Given the description of an element on the screen output the (x, y) to click on. 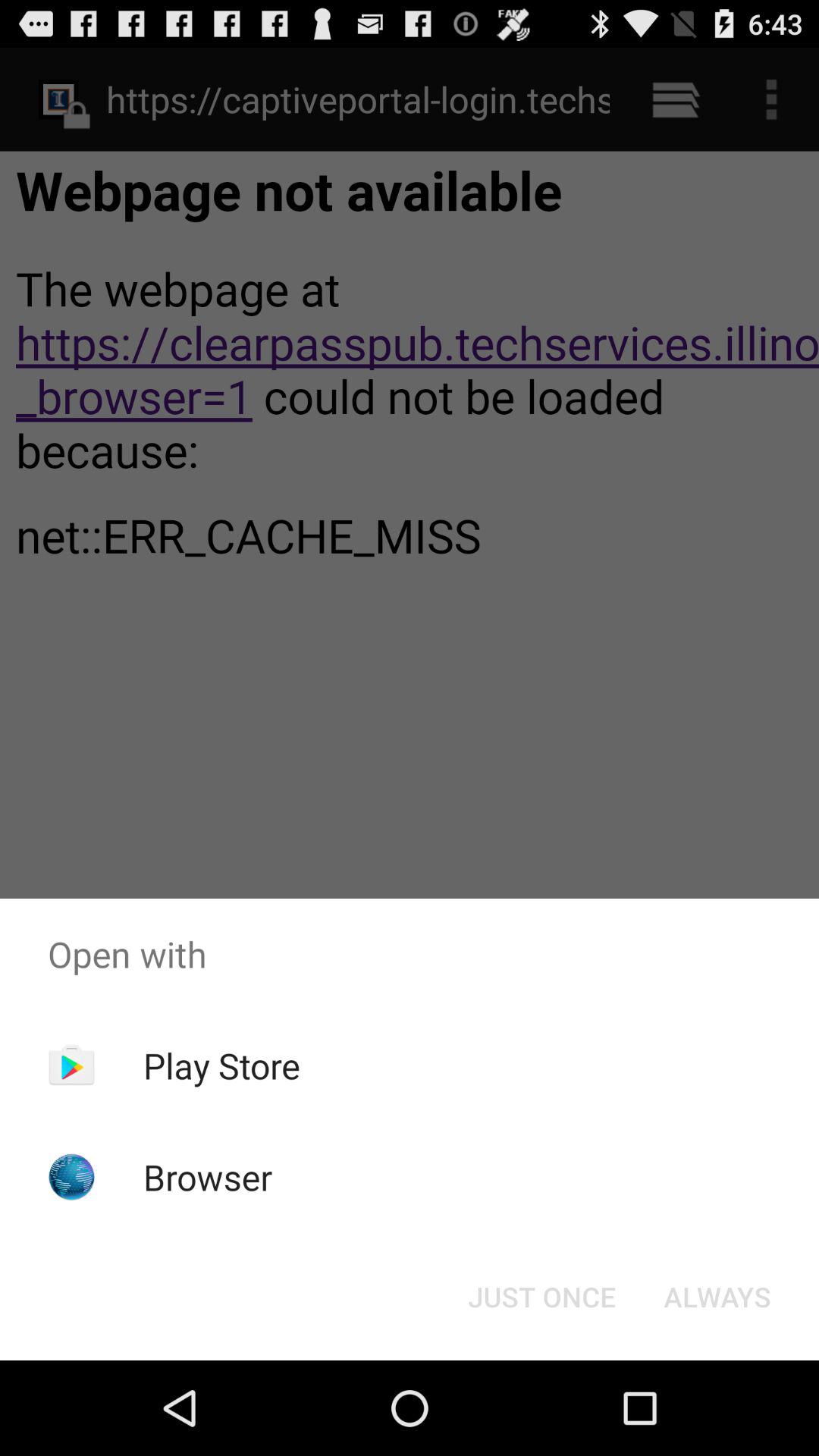
launch just once icon (541, 1296)
